Given the description of an element on the screen output the (x, y) to click on. 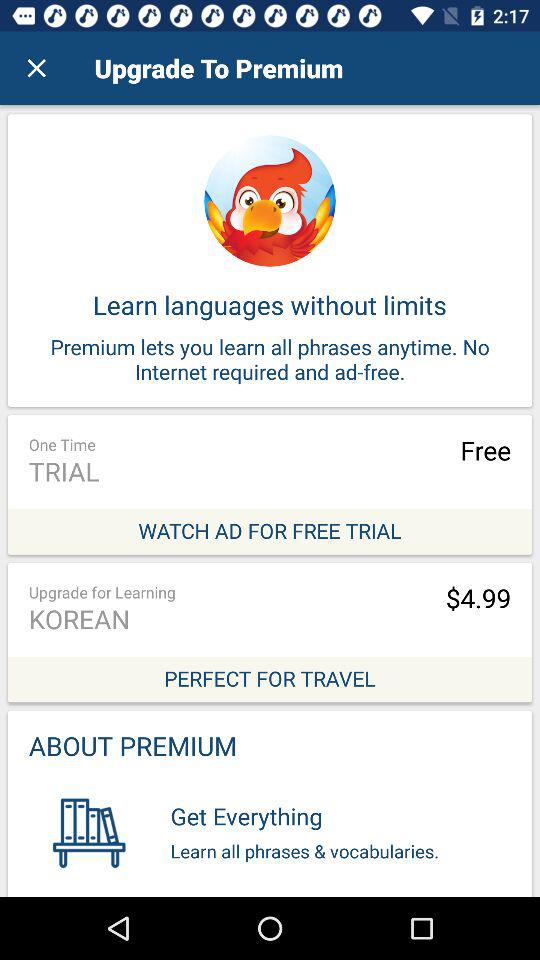
turn on item above learn languages without item (36, 68)
